Given the description of an element on the screen output the (x, y) to click on. 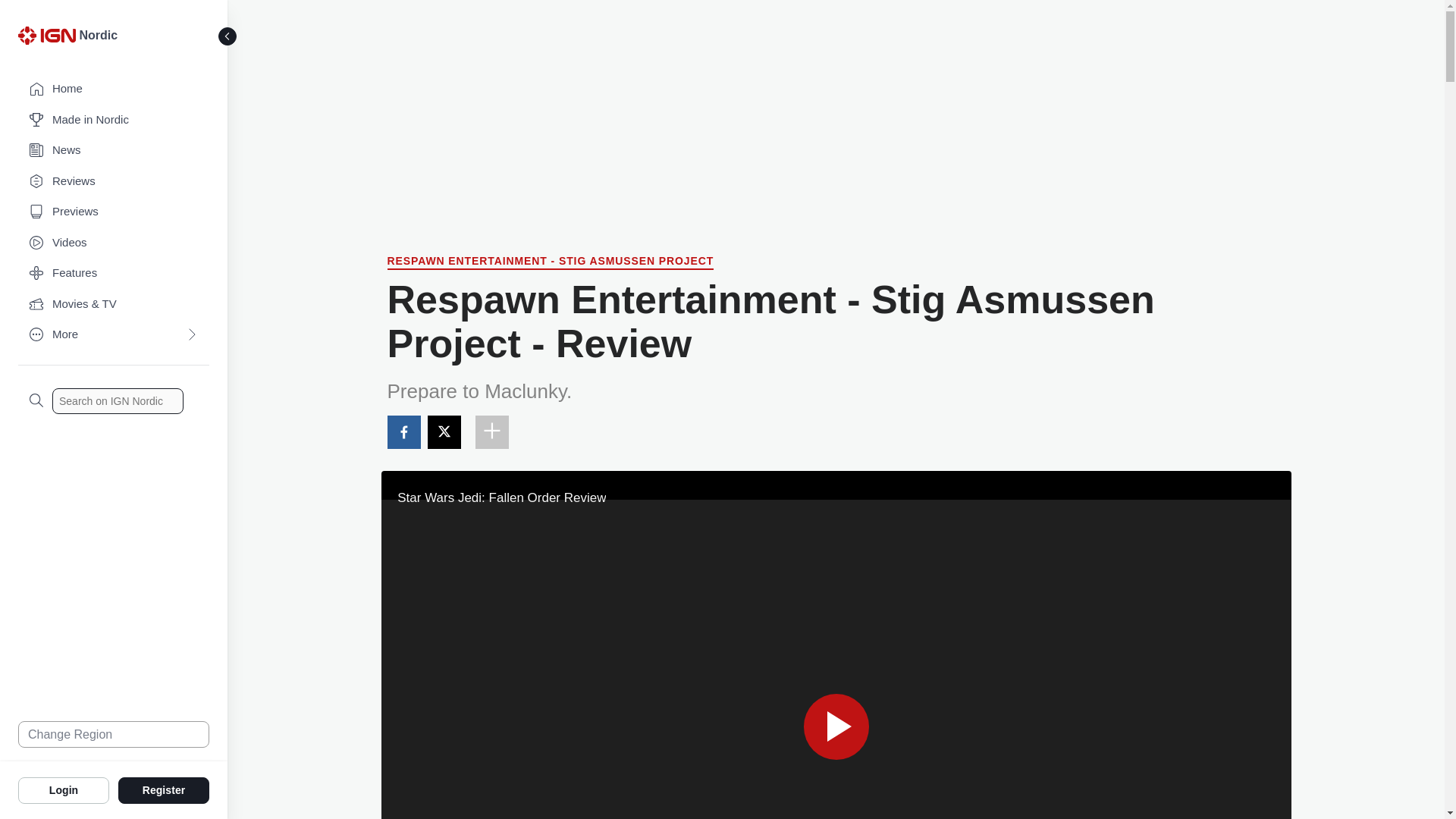
Login (63, 789)
Features (113, 273)
More (113, 334)
Respawn Entertainment - Stig Asmussen Project (550, 262)
Made in Nordic (113, 119)
Reviews (113, 181)
RESPAWN ENTERTAINMENT - STIG ASMUSSEN PROJECT (550, 262)
Toggle Sidebar (226, 36)
Previews (113, 211)
News (113, 150)
